Given the description of an element on the screen output the (x, y) to click on. 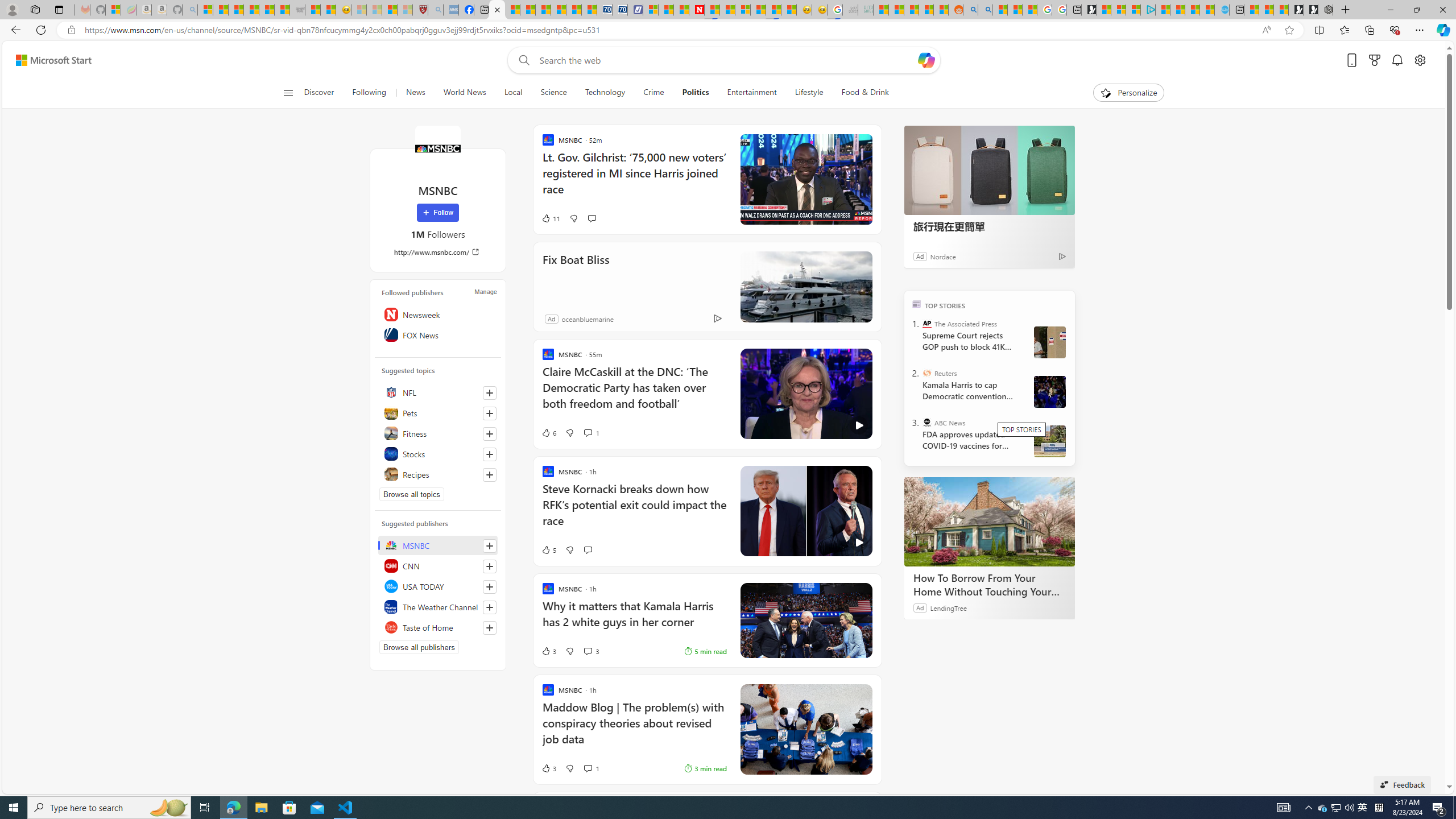
6 Like (547, 432)
11 Like (549, 218)
